Given the description of an element on the screen output the (x, y) to click on. 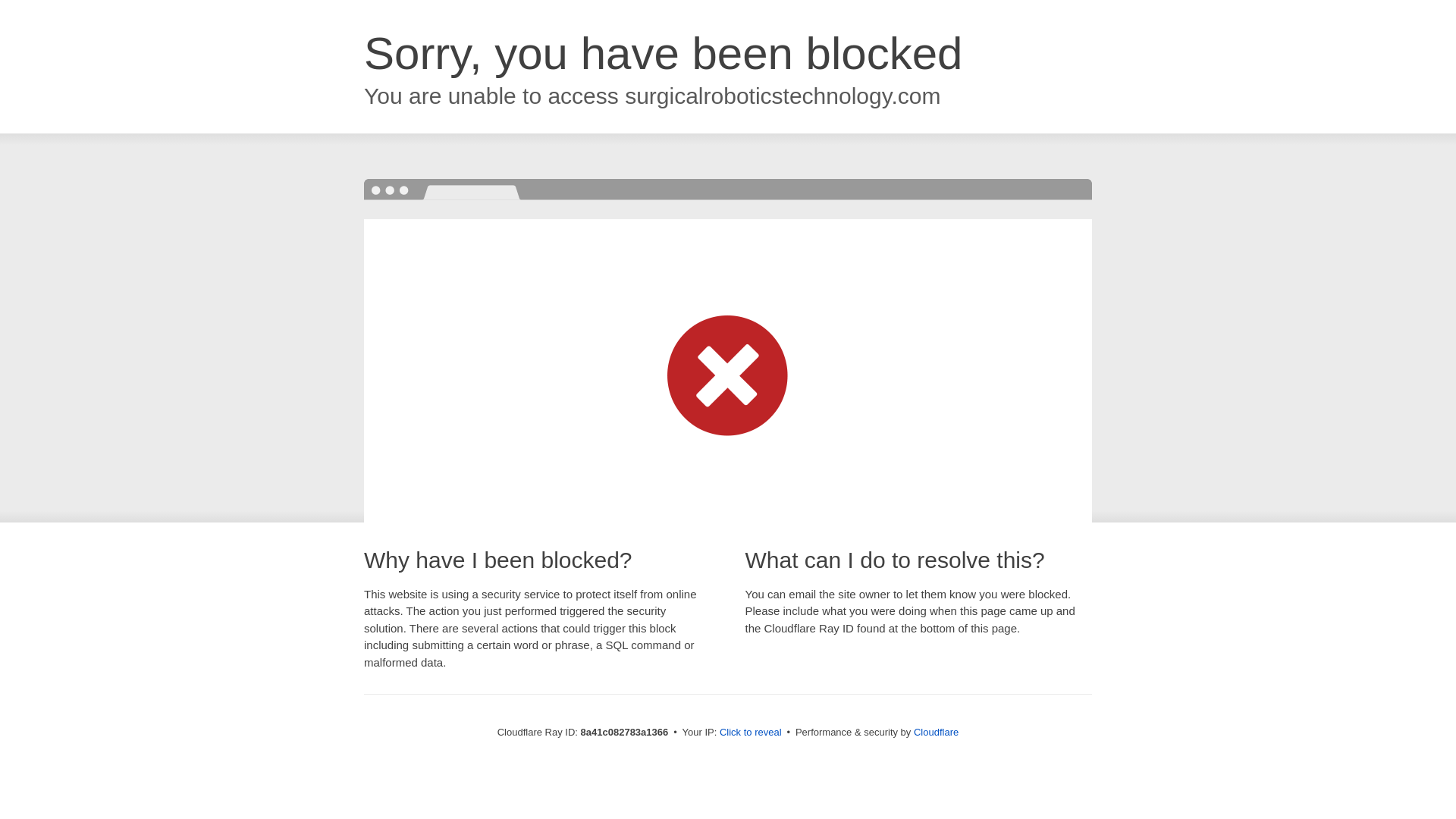
Click to reveal (750, 732)
Cloudflare (936, 731)
